Given the description of an element on the screen output the (x, y) to click on. 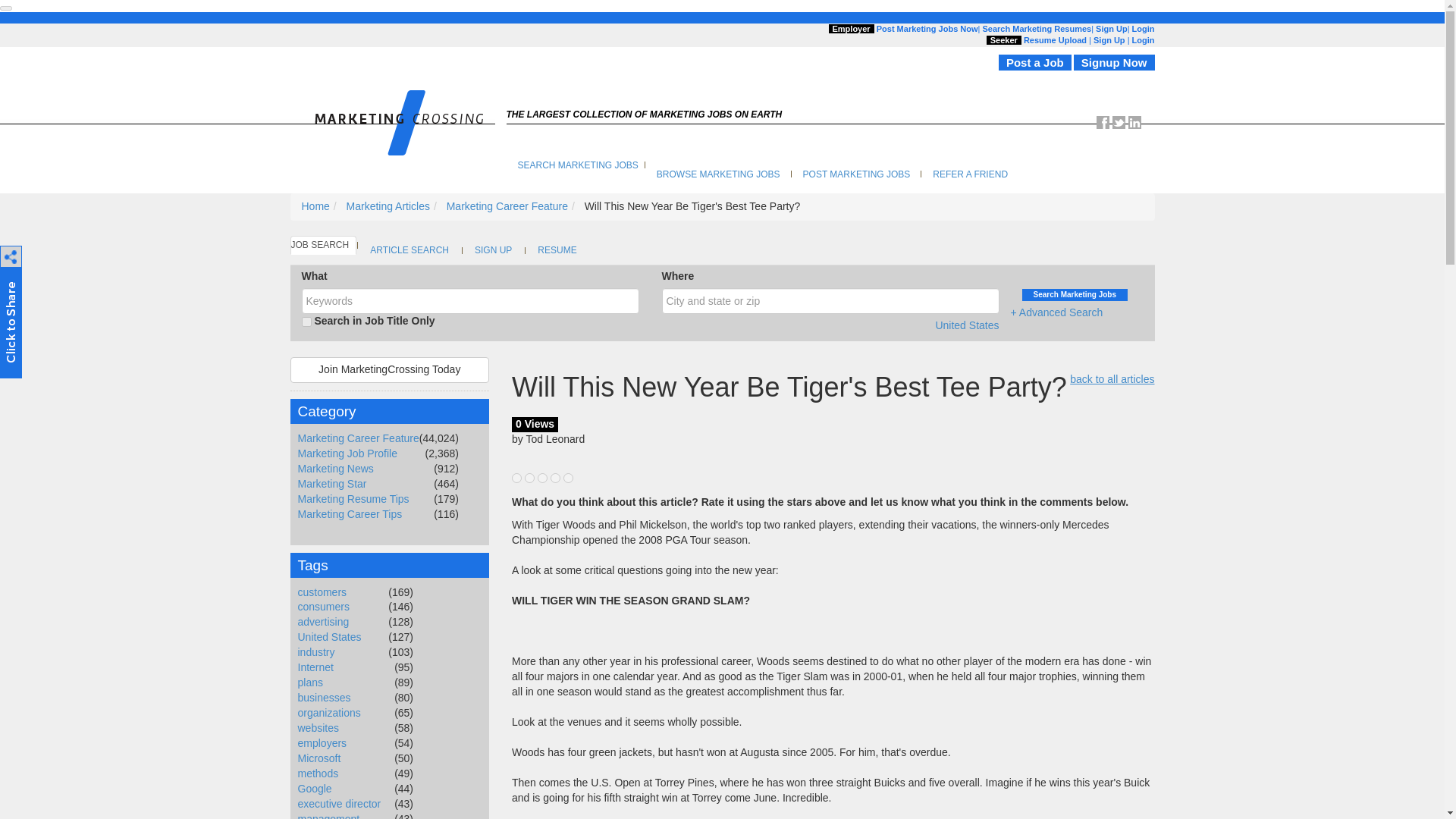
RESUME (556, 250)
Login (1143, 28)
Search Marketing Jobs (1074, 295)
Signup Now (1114, 62)
United States (966, 325)
Search Marketing Resumes (1035, 28)
2 (529, 478)
REFER A FRIEND (970, 174)
